Given the description of an element on the screen output the (x, y) to click on. 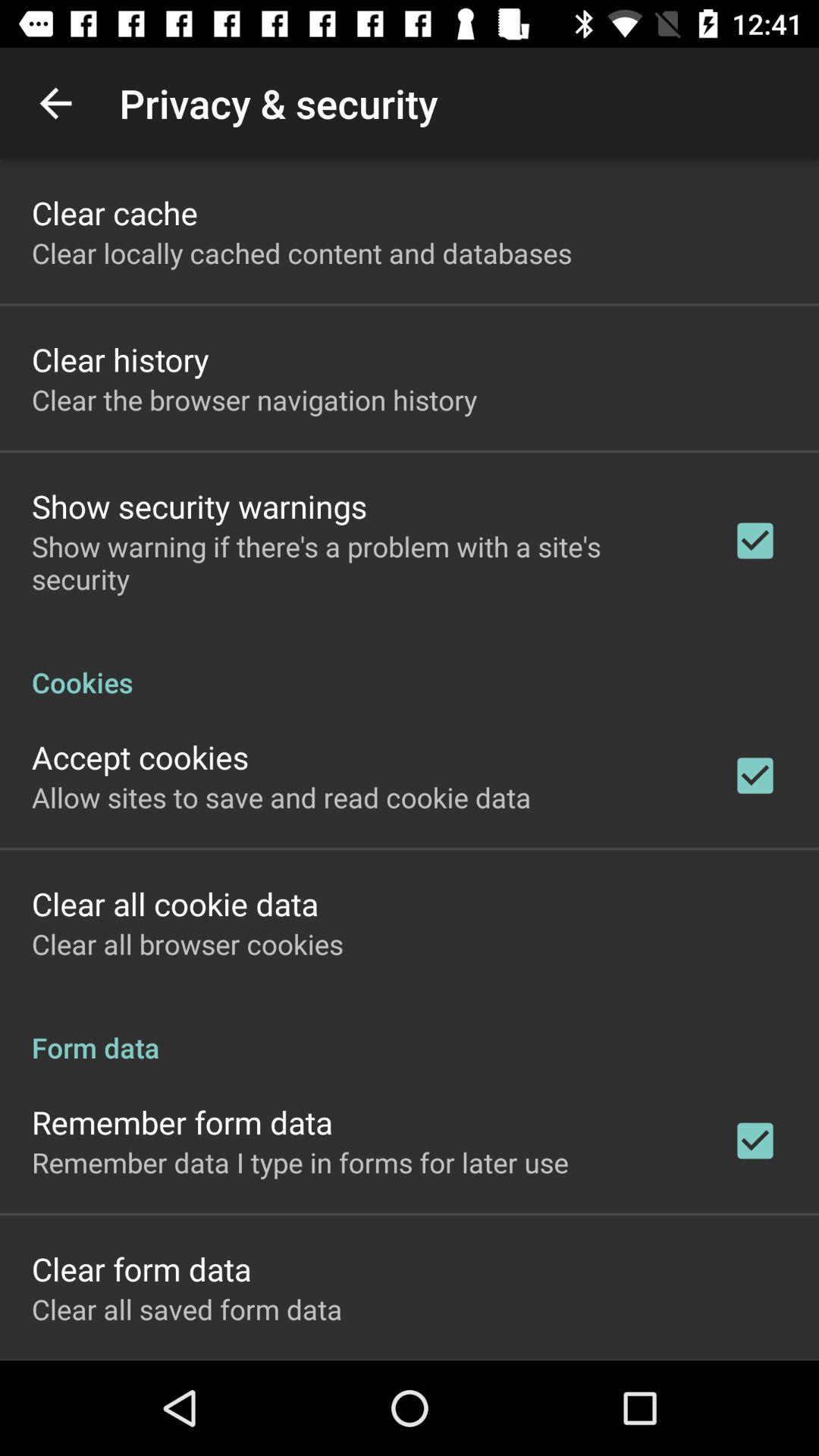
choose the accept cookies item (140, 756)
